Given the description of an element on the screen output the (x, y) to click on. 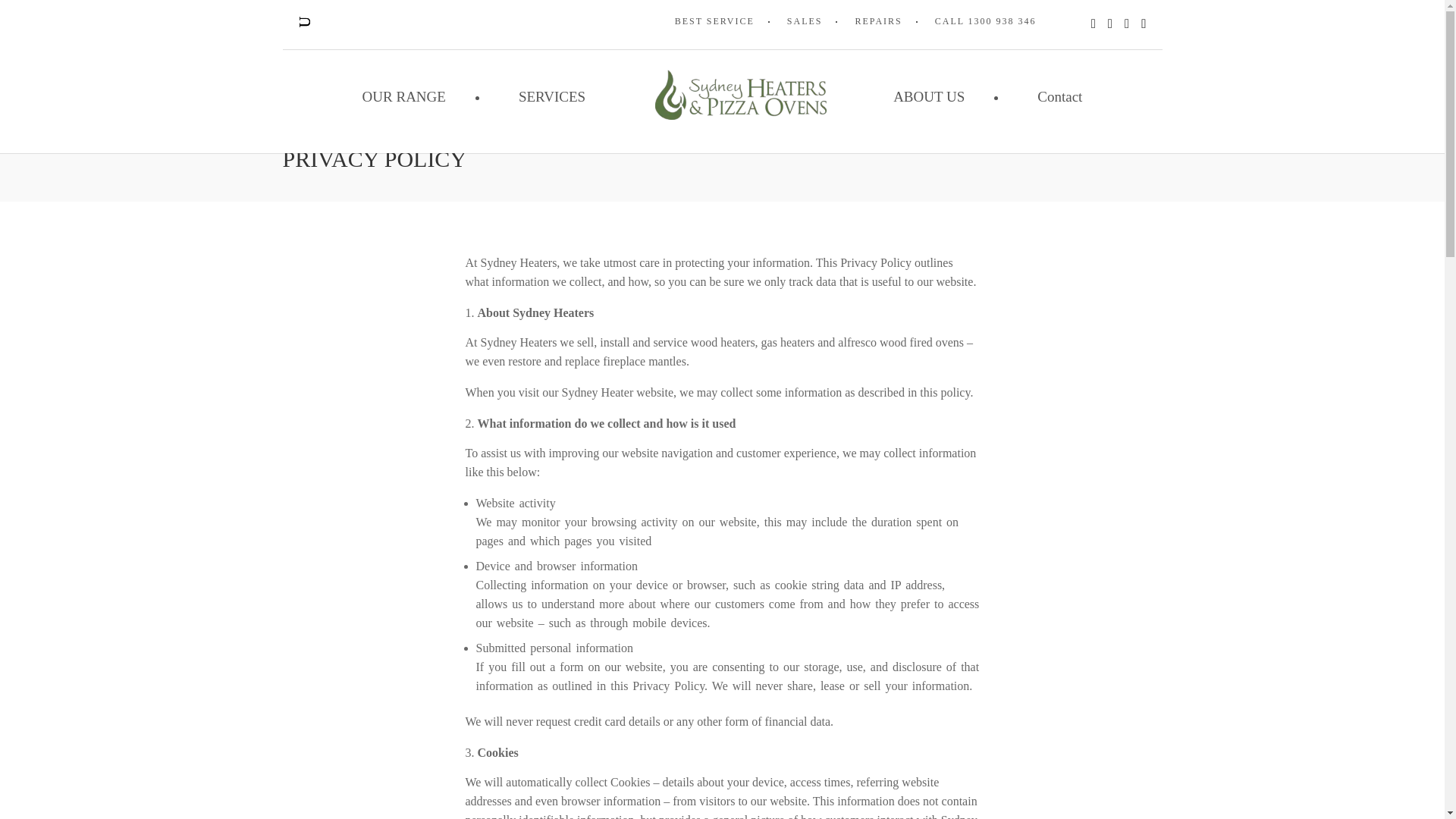
HOME (304, 113)
SERVICES (551, 96)
PRIVACY POLICY (393, 113)
BEST SERVICE (714, 21)
OUR RANGE (403, 96)
ABOUT US (928, 96)
Contact (1059, 96)
CALL 1300 938 346 (985, 21)
SALES (804, 21)
REPAIRS (877, 21)
